Given the description of an element on the screen output the (x, y) to click on. 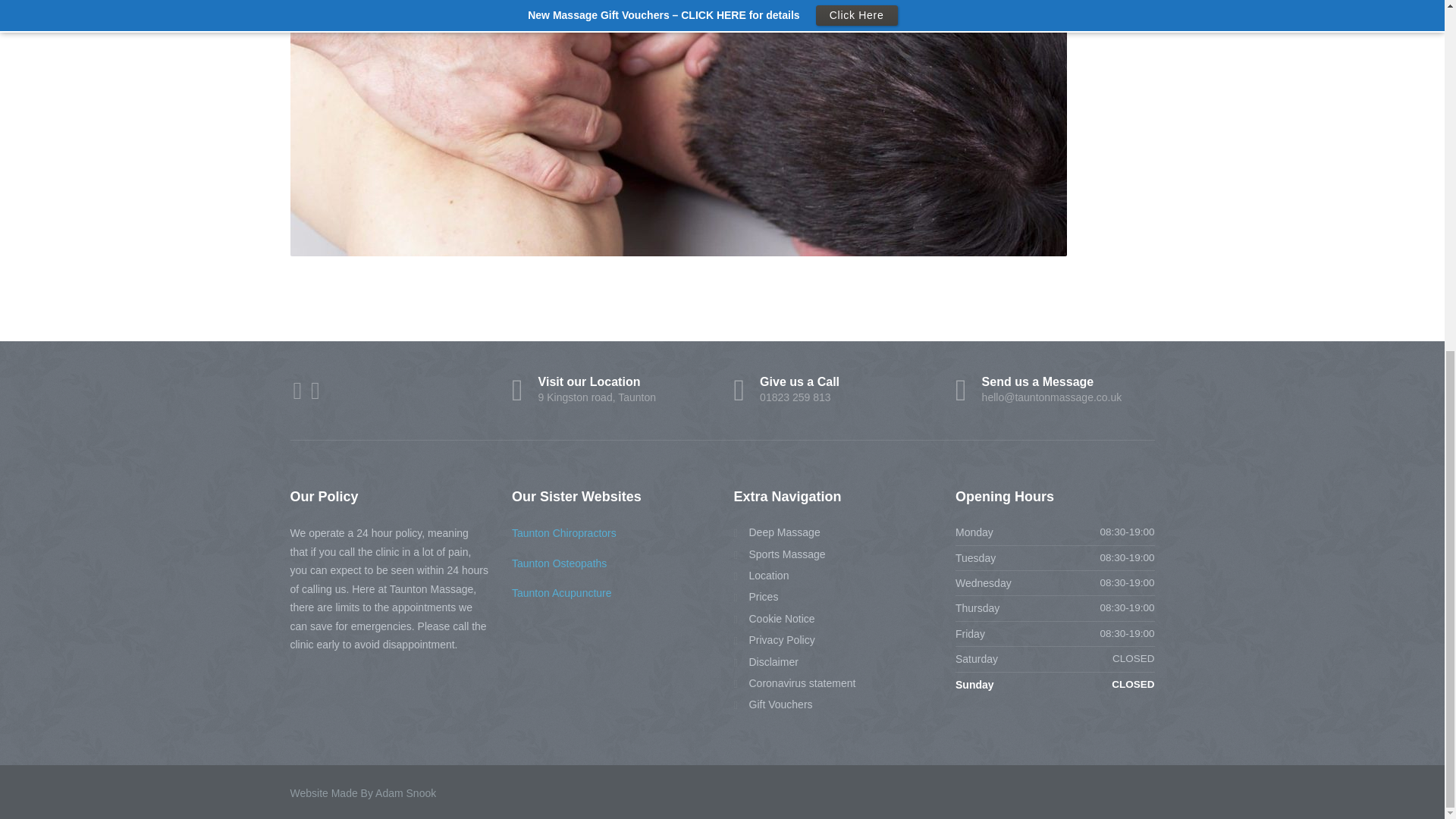
Disclaimer (765, 661)
Sports Massage (779, 554)
Prices (755, 596)
Cookie Notice (774, 618)
Location (761, 575)
Gift Vouchers (611, 390)
Privacy Policy (772, 704)
Coronavirus statement (833, 390)
Taunton Osteopaths (774, 639)
Taunton Chiropractors (794, 682)
Deep Massage (559, 563)
Taunton Acupuncture (563, 532)
